Given the description of an element on the screen output the (x, y) to click on. 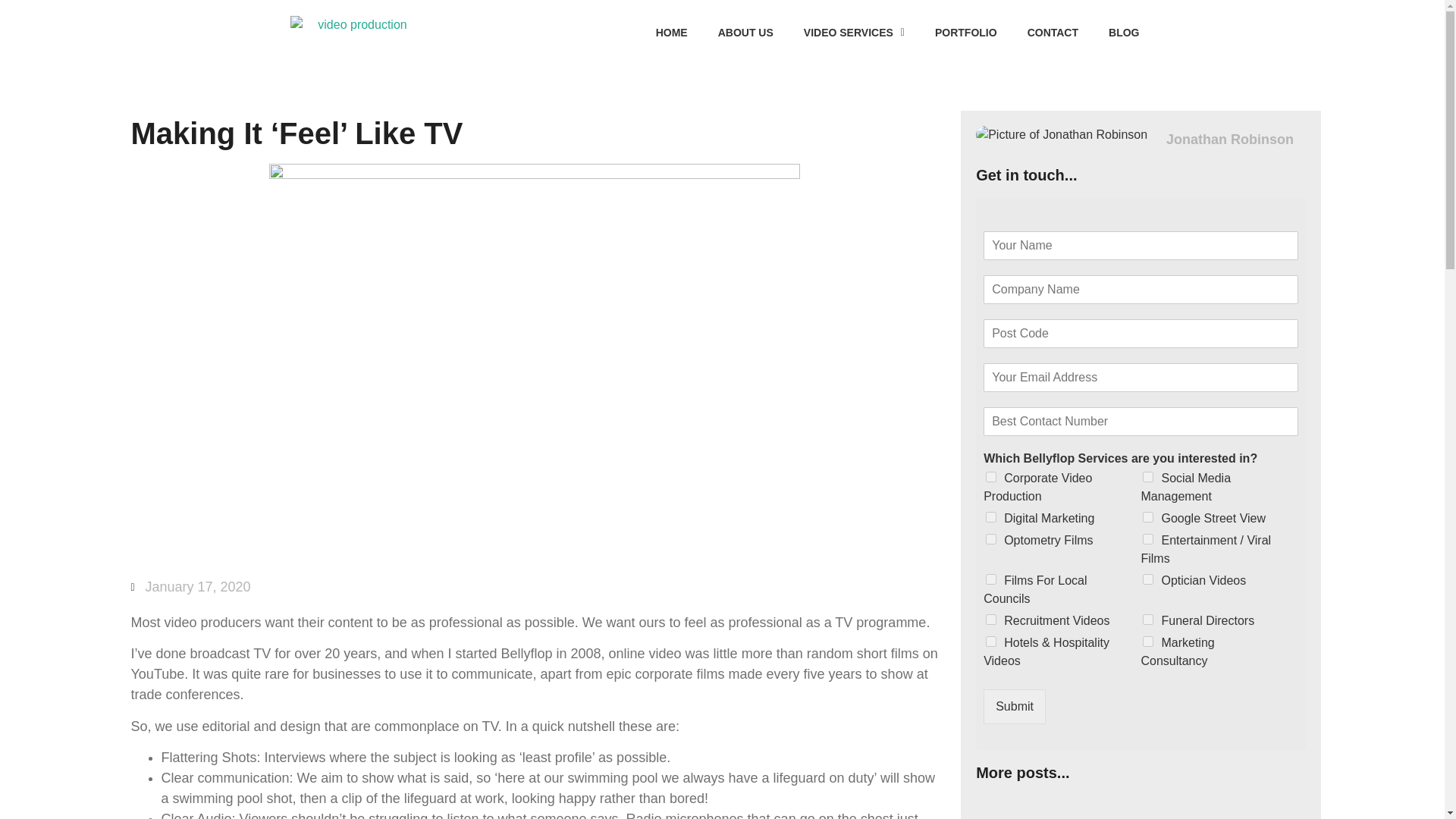
Films For Local Councils (990, 579)
VIDEO SERVICES (854, 32)
Recruitment Videos (990, 619)
PORTFOLIO (965, 32)
Corporate Video Production (990, 476)
Optometry Films (990, 538)
BLOG (1123, 32)
Funeral Directors (1147, 619)
Social Media Management (1147, 476)
Marketing Consultancy (1147, 641)
